Given the description of an element on the screen output the (x, y) to click on. 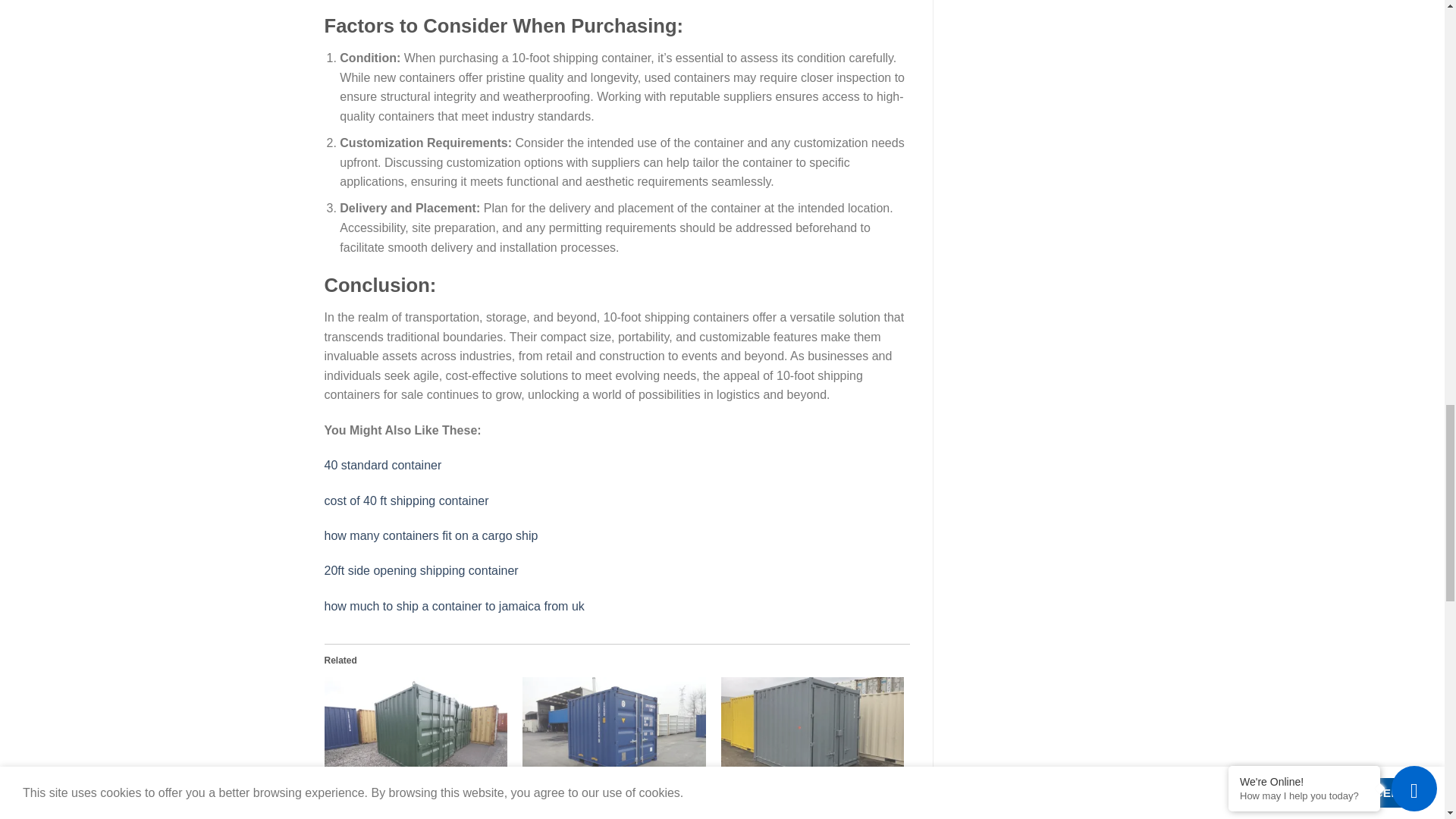
10 Ft Shipping Containers for Sale (812, 729)
10 Foot Shipping Container (586, 788)
cost of 40 ft shipping container (406, 500)
10 Ft Shipping Containers for Sale (801, 788)
10 Foot Shipping Container for Sale (408, 788)
10 Foot Shipping Container (586, 788)
10 Ft Shipping Containers for Sale (801, 788)
20ft side opening shipping container (421, 570)
10 Foot Shipping Container for Sale (408, 788)
how many containers fit on a cargo ship (431, 535)
40 standard container (383, 464)
10 Foot Shipping Container for Sale (416, 729)
10 Foot Shipping Container (614, 729)
how much to ship a container to jamaica from uk (454, 605)
